Given the description of an element on the screen output the (x, y) to click on. 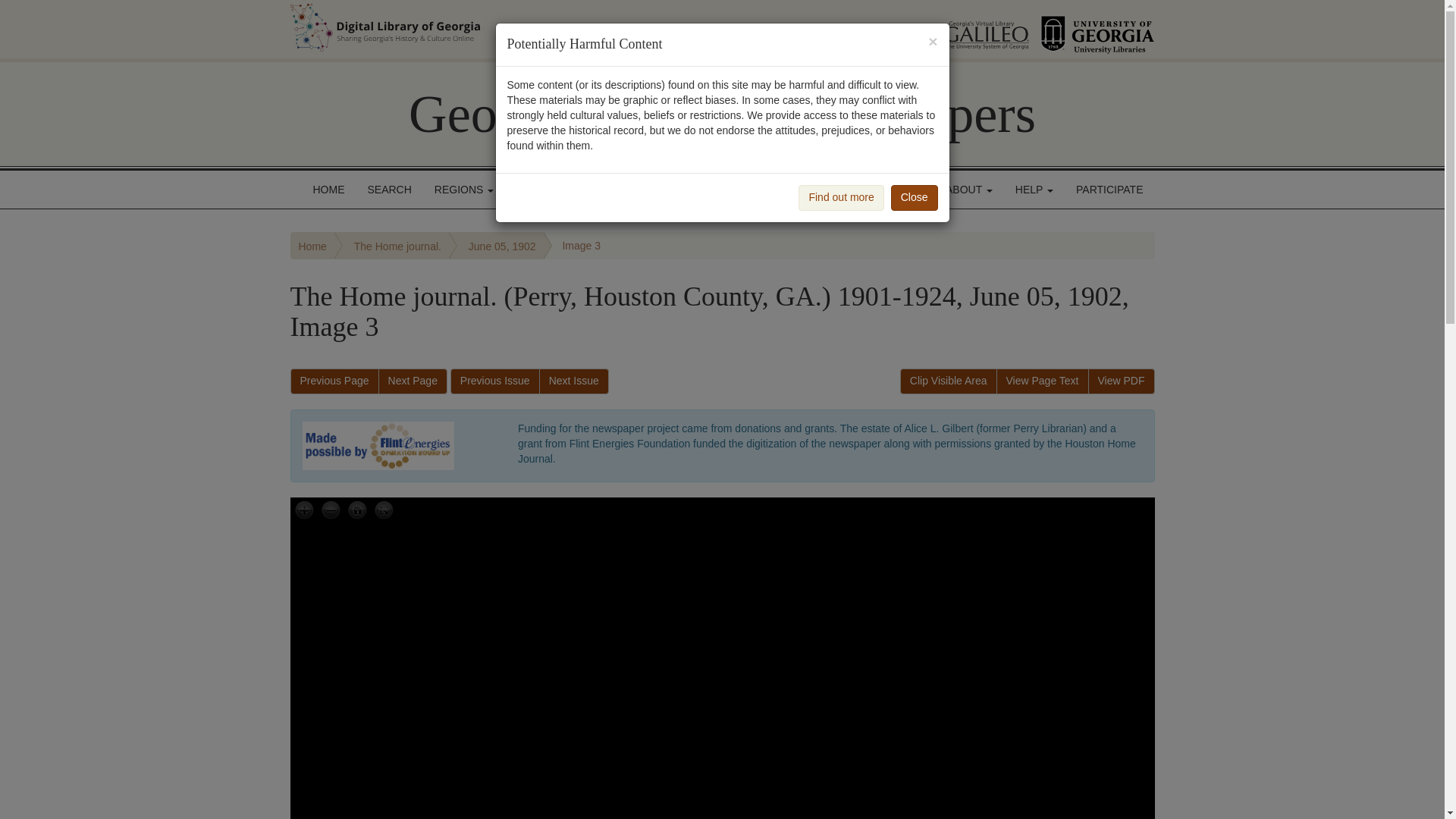
Go home (357, 510)
BROWSE (545, 189)
NEWS (901, 189)
SEARCH (389, 189)
UGA Libraries Homepage Link (1097, 29)
HELP (1034, 189)
GHNP Homepage (722, 114)
Home (311, 245)
Zoom in (304, 510)
GALILEO Homepage Link (968, 29)
